Given the description of an element on the screen output the (x, y) to click on. 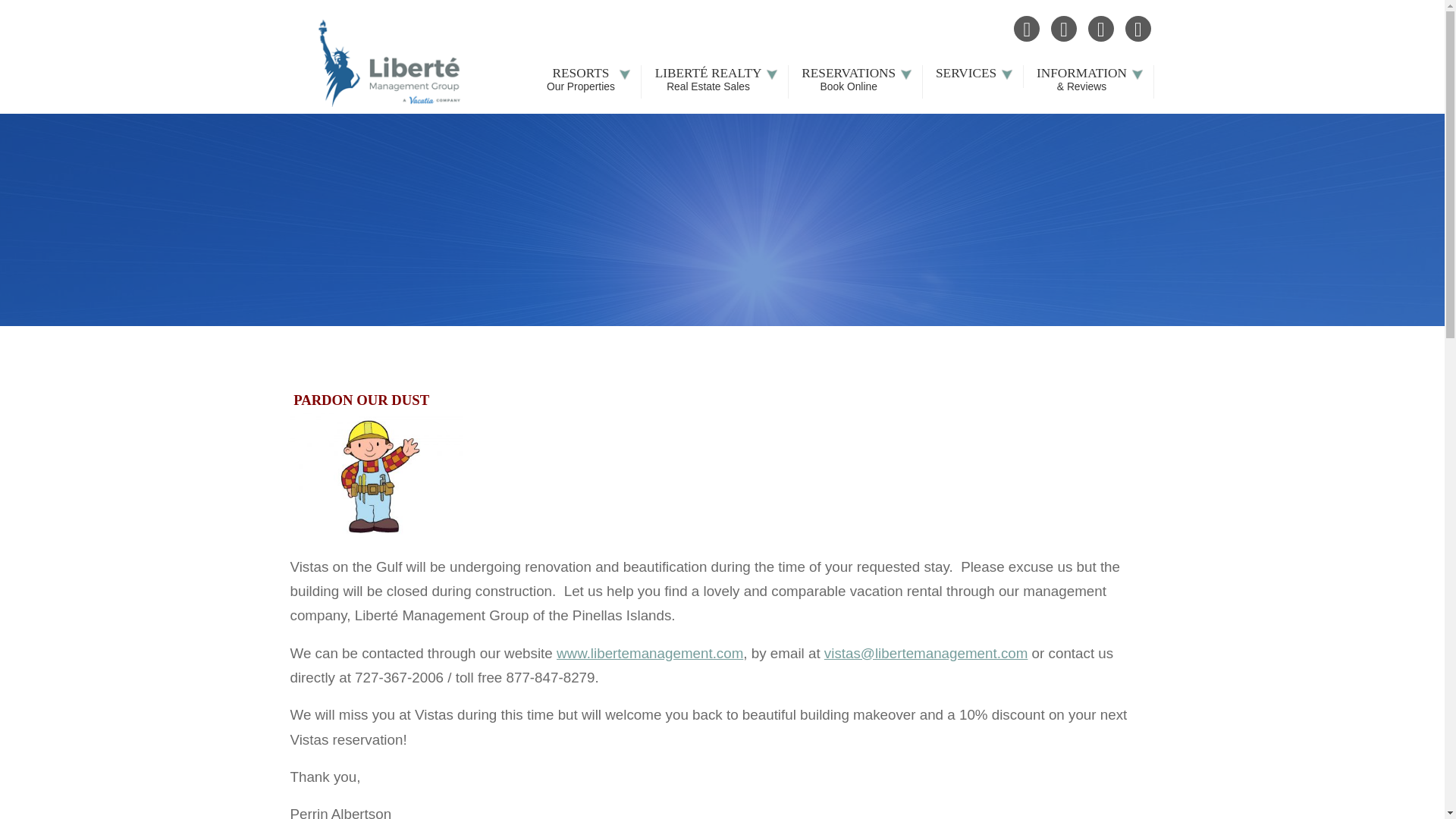
SERVICES (973, 76)
Liberte Managment Group (389, 63)
Our Location (1138, 28)
Call Now (1064, 28)
Home (1026, 28)
Call Now (1064, 28)
Our Location (588, 81)
Facebook (1138, 28)
